Given the description of an element on the screen output the (x, y) to click on. 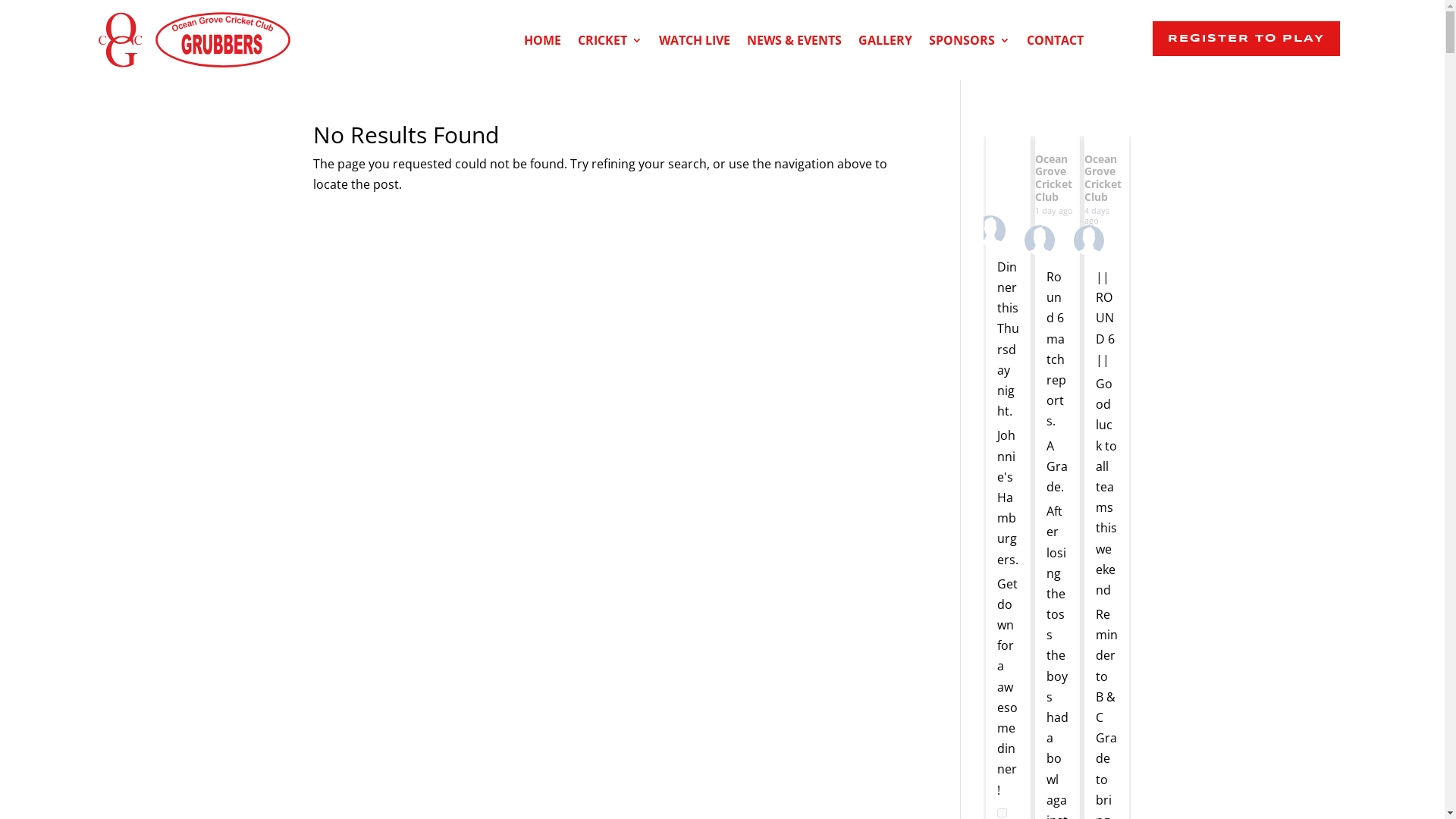
HOME Element type: text (542, 42)
Ocean Grove Cricket Club Element type: text (1053, 177)
WATCH LIVE Element type: text (694, 42)
CRICKET Element type: text (609, 42)
SPONSORS Element type: text (969, 42)
Logos Element type: hover (194, 39)
CONTACT Element type: text (1054, 42)
NEWS & EVENTS Element type: text (793, 42)
REGISTER TO PLAY Element type: text (1245, 38)
Ocean Grove Cricket Club Element type: text (1102, 177)
GALLERY Element type: text (885, 42)
